Given the description of an element on the screen output the (x, y) to click on. 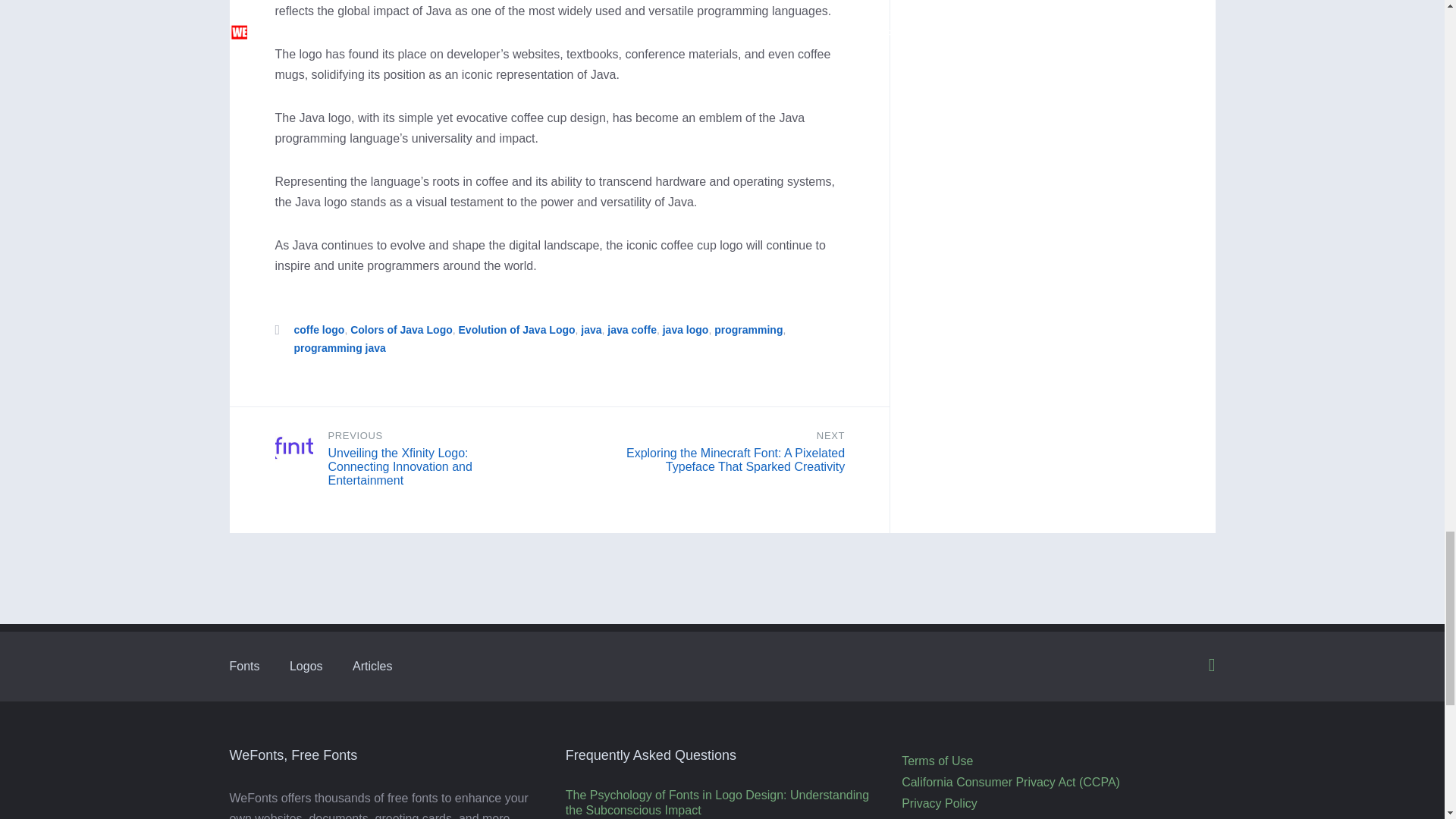
PREVIOUS (354, 435)
Evolution of Java Logo (516, 329)
Colors of Java Logo (401, 329)
programming java (339, 347)
programming (748, 329)
java coffe (631, 329)
NEXT (830, 435)
java (590, 329)
